Given the description of an element on the screen output the (x, y) to click on. 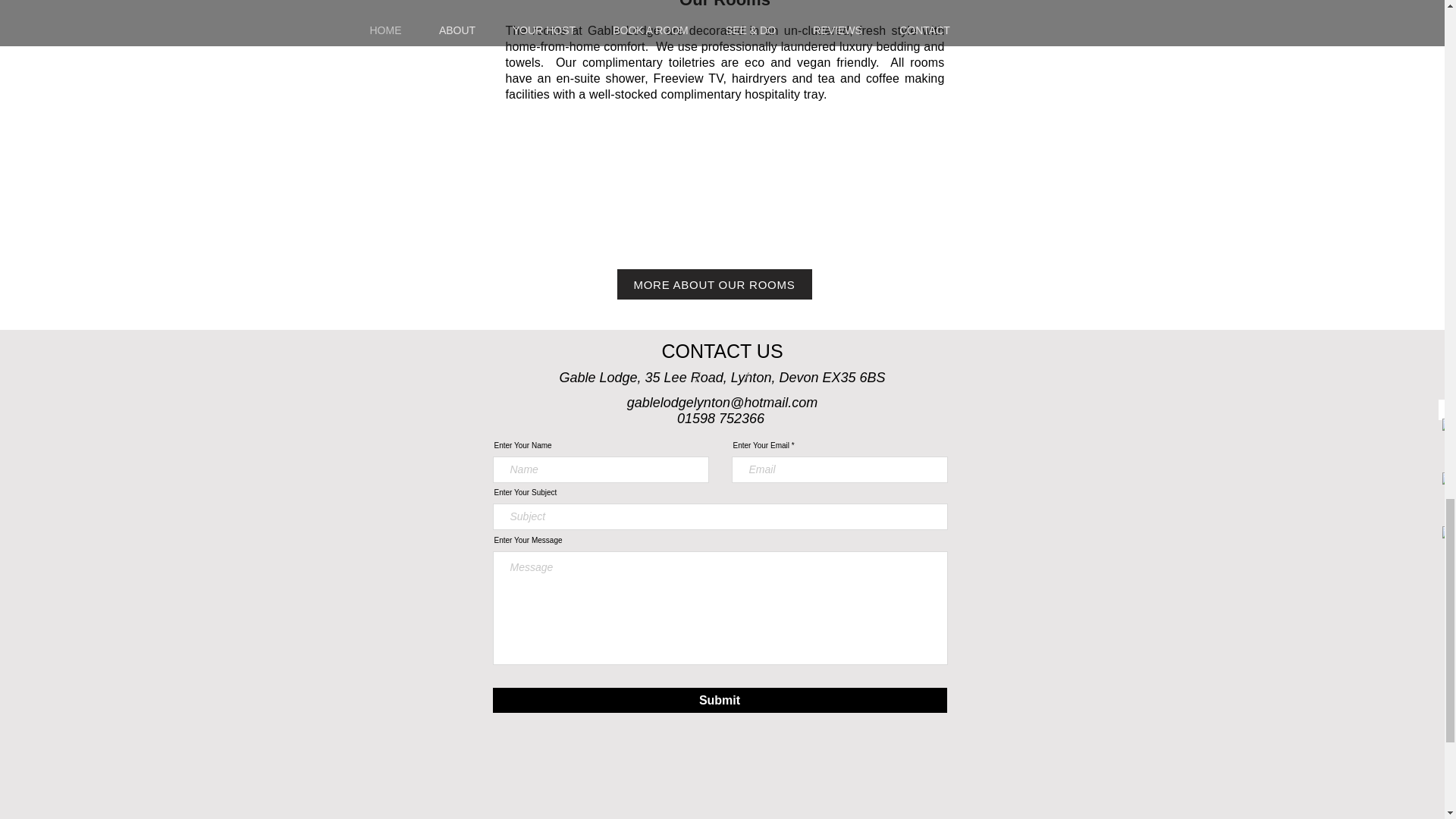
Submit (720, 699)
MORE ABOUT OUR ROOMS (714, 284)
